Given the description of an element on the screen output the (x, y) to click on. 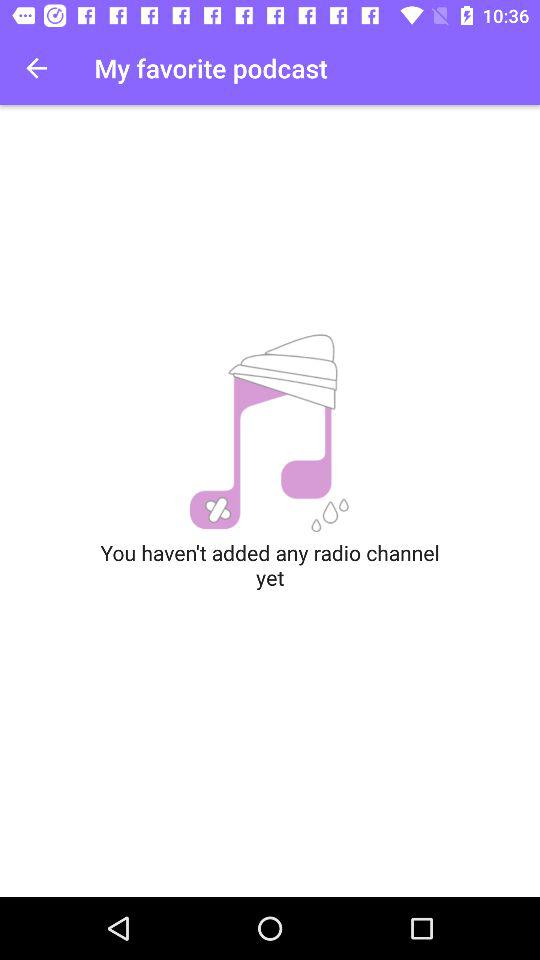
click item to the left of the my favorite podcast (36, 68)
